Given the description of an element on the screen output the (x, y) to click on. 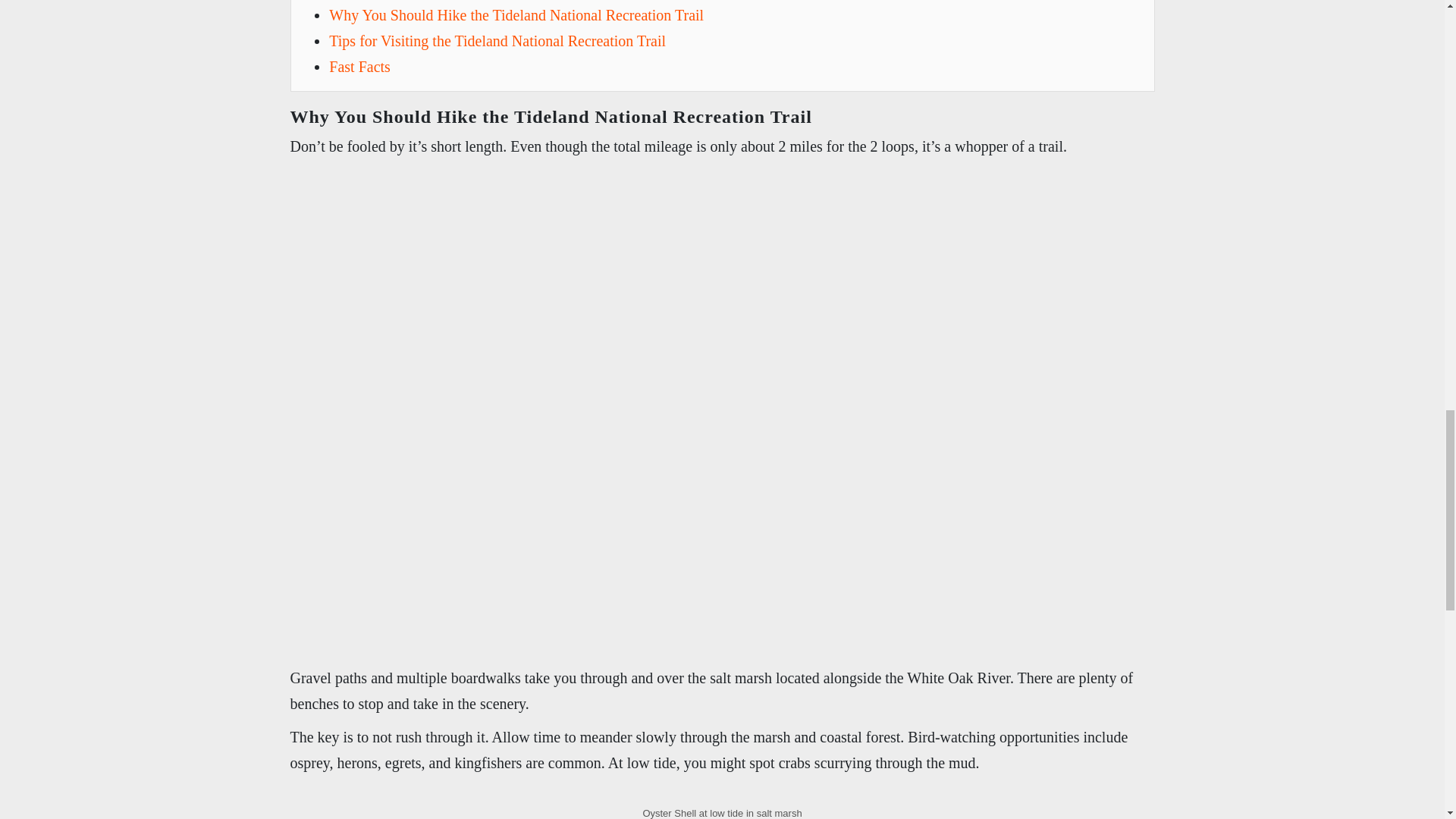
Why You Should Hike the Tideland National Recreation Trail (516, 14)
Tips for Visiting the Tideland National Recreation Trail (497, 40)
Fast Facts (359, 66)
